Given the description of an element on the screen output the (x, y) to click on. 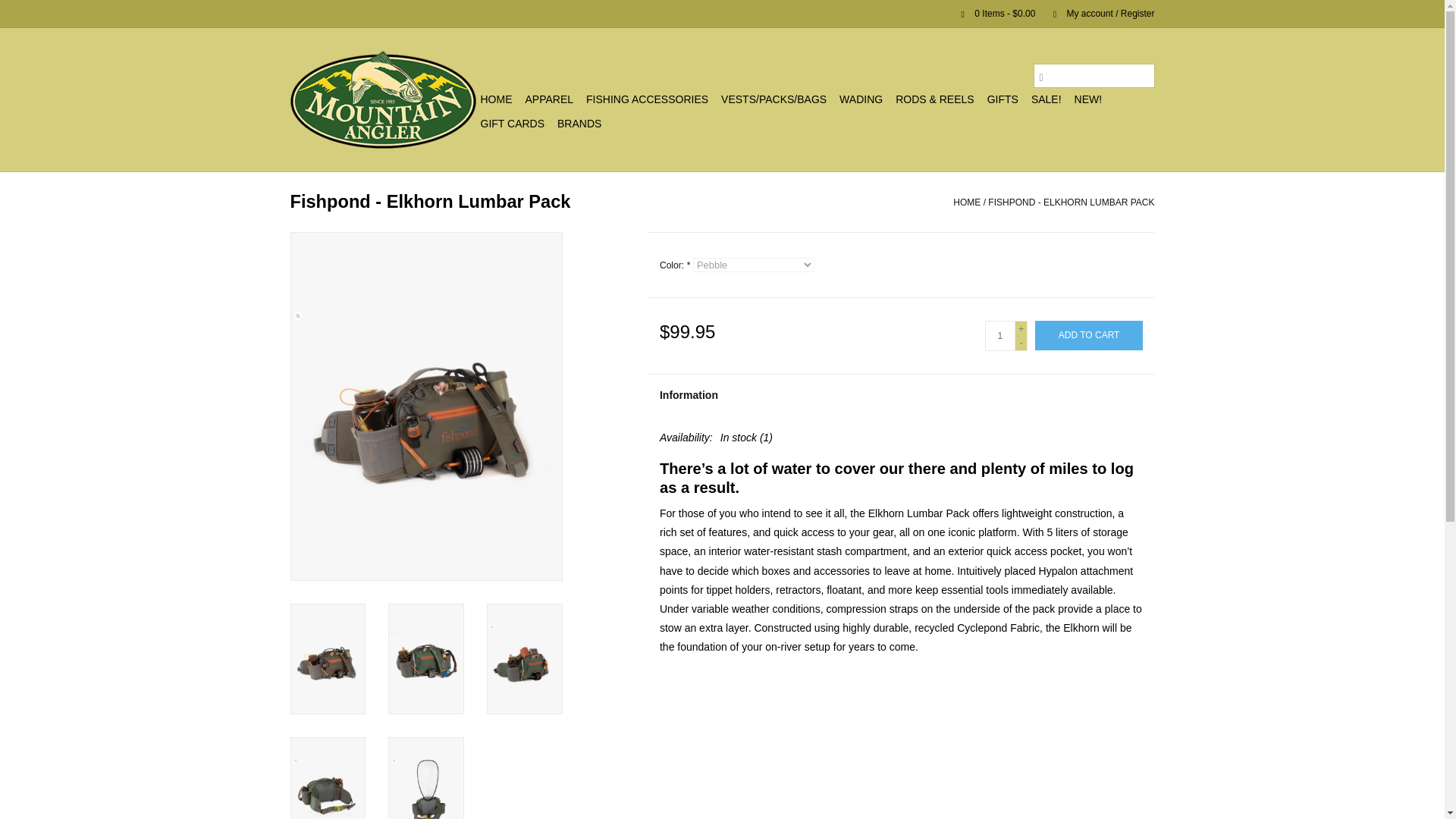
Search (1040, 75)
FISHING ACCESSORIES (646, 98)
Cart (992, 13)
My account (1096, 13)
HOME (496, 98)
Mountain Angler (382, 99)
Apparel (548, 98)
APPAREL (548, 98)
1 (999, 336)
